Given the description of an element on the screen output the (x, y) to click on. 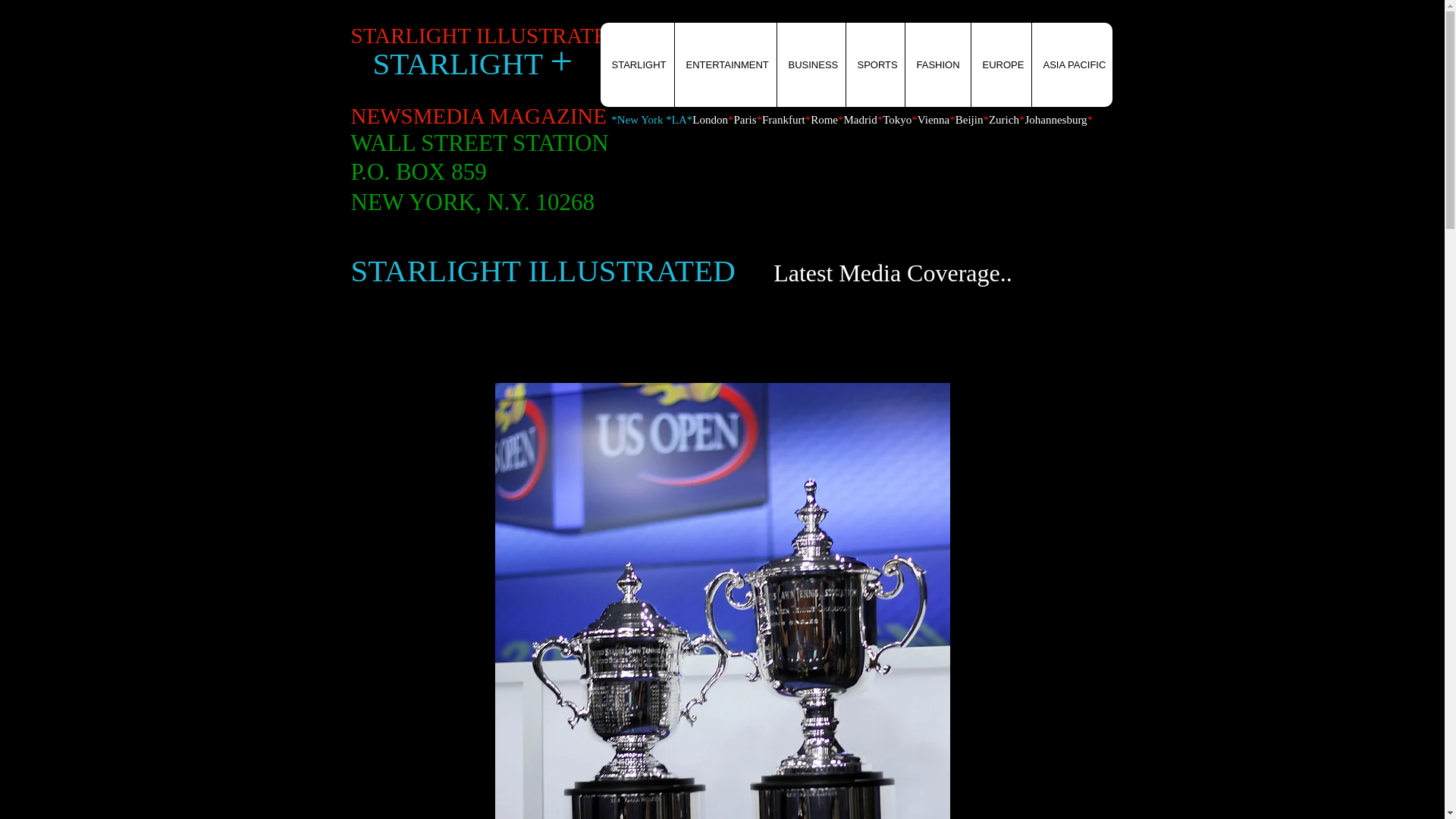
ASIA PACIFIC (1071, 64)
STARLIGHT (636, 64)
FASHION (936, 64)
BUSINESS (810, 64)
ENTERTAINMENT (724, 64)
SPORTS (874, 64)
EUROPE (1000, 64)
